Given the description of an element on the screen output the (x, y) to click on. 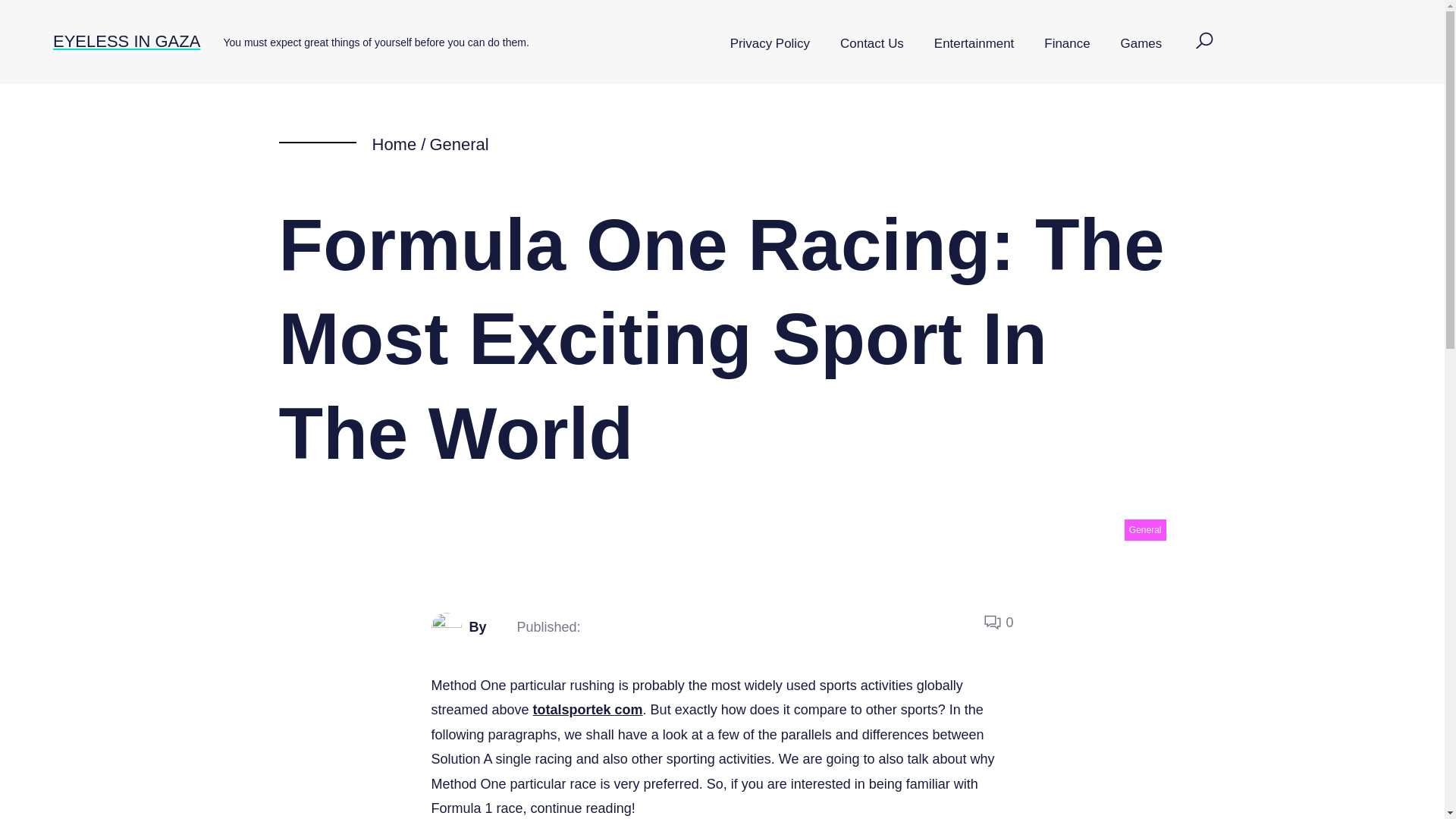
Entertainment (973, 43)
Games (1141, 43)
totalsportek com (587, 709)
Home (393, 144)
Privacy Policy (769, 43)
General (458, 144)
EYELESS IN GAZA (126, 40)
Contact Us (871, 43)
General (1145, 529)
Finance (1067, 43)
